Given the description of an element on the screen output the (x, y) to click on. 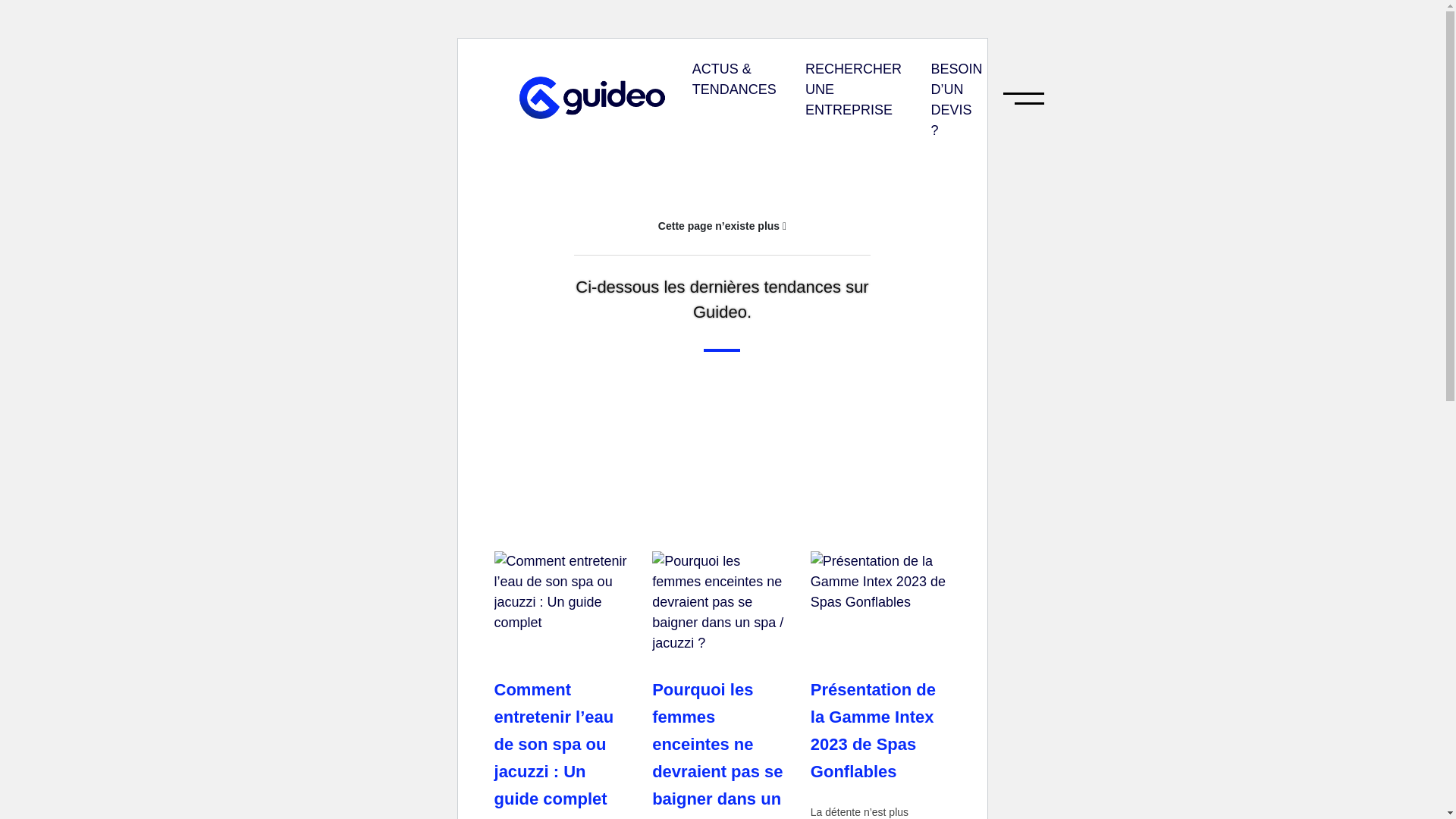
RECHERCHER UNE ENTREPRISE Element type: text (853, 89)
ACTUS & TENDANCES Element type: text (734, 79)
